Given the description of an element on the screen output the (x, y) to click on. 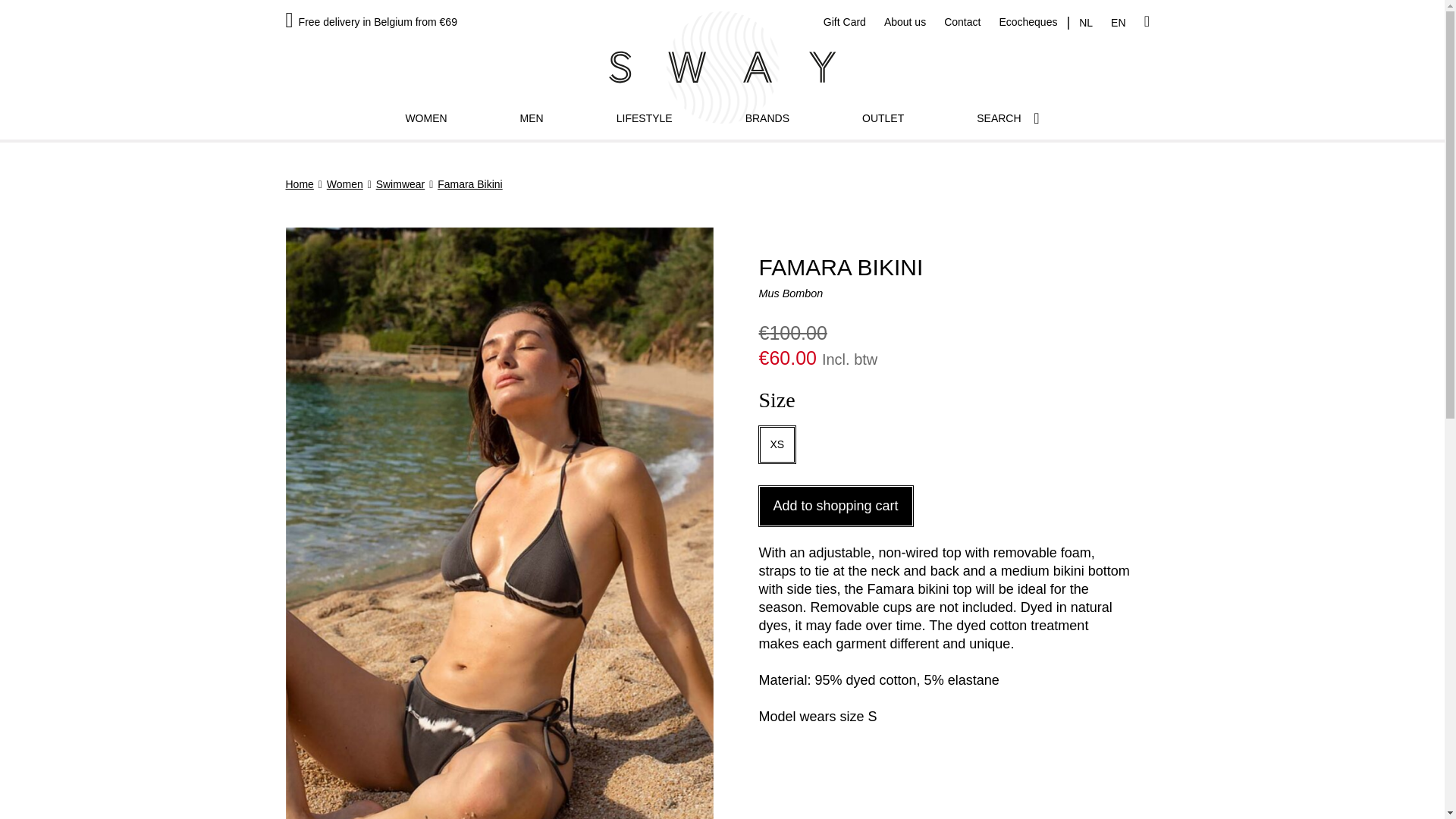
NL (1085, 22)
Home (299, 184)
Shopping cart (1146, 21)
Add to shopping cart (835, 506)
Swimwear (400, 184)
Ecocheques (1027, 21)
OUTLET (882, 118)
Famara Bikini (470, 184)
About us (904, 21)
